Given the description of an element on the screen output the (x, y) to click on. 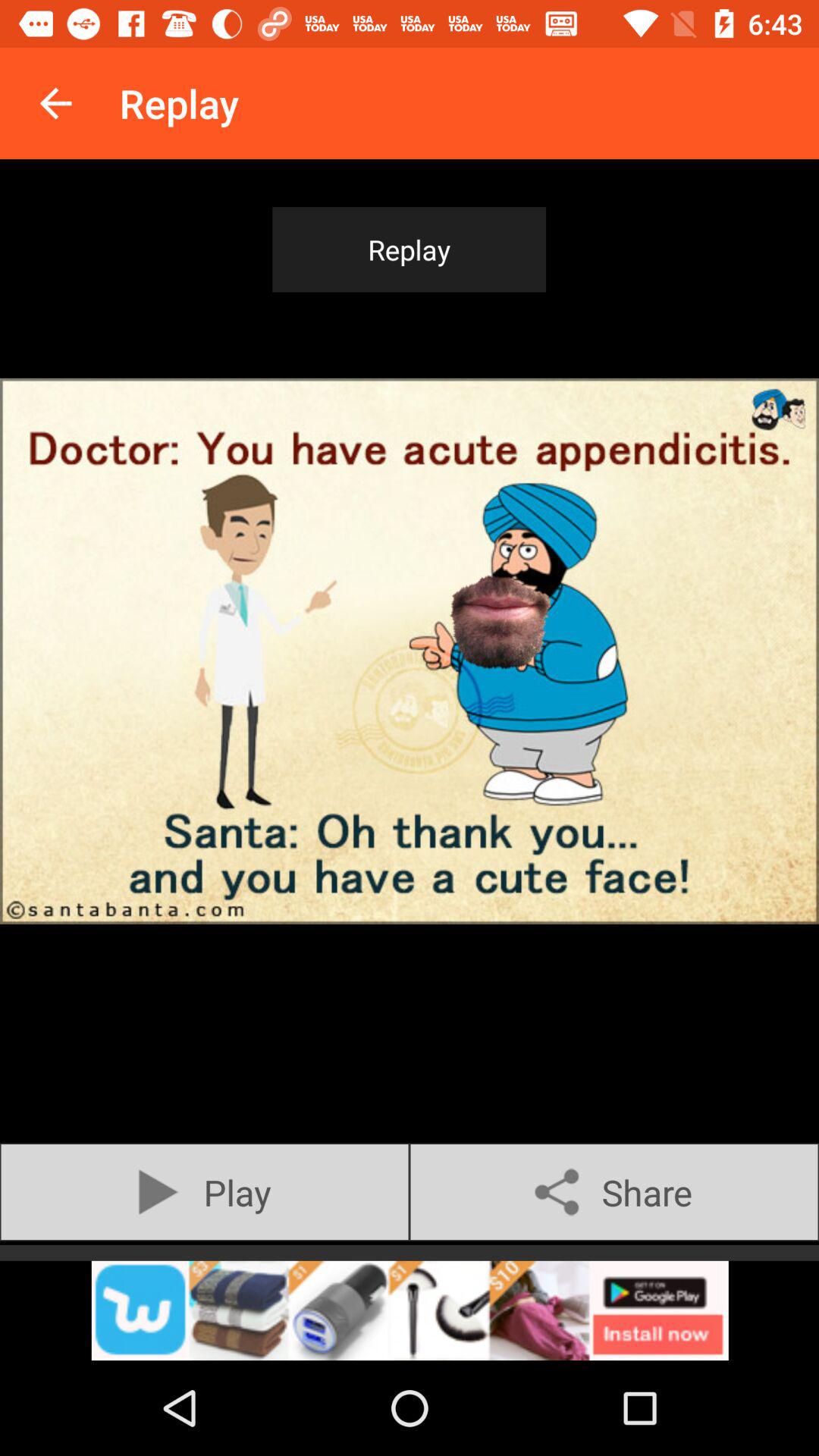
get more information (409, 1310)
